Given the description of an element on the screen output the (x, y) to click on. 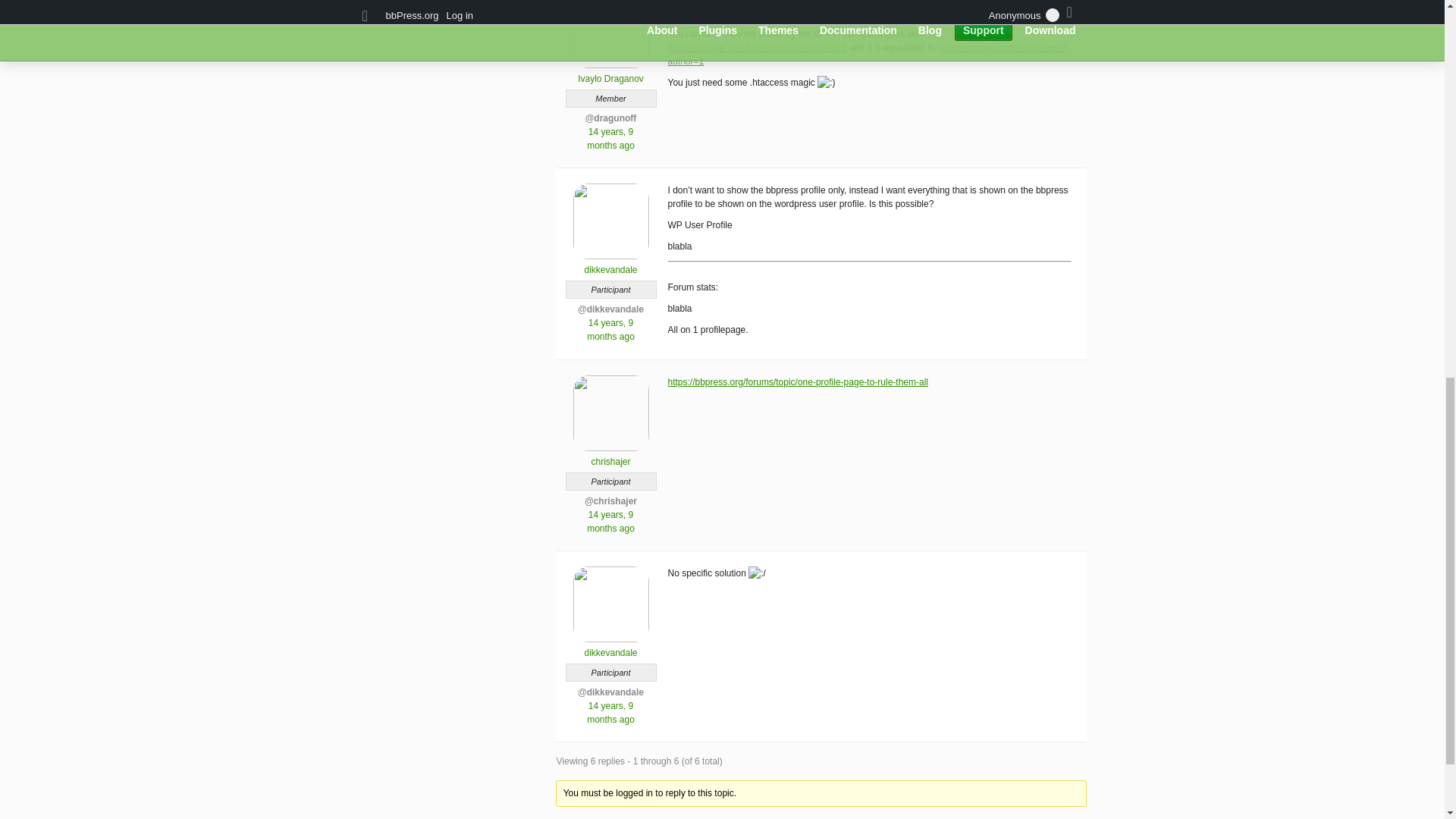
Ivaylo Draganov (609, 72)
14 years, 9 months ago (610, 712)
14 years, 9 months ago (610, 521)
14 years, 9 months ago (610, 138)
dikkevandale (609, 263)
dikkevandale (609, 646)
14 years, 9 months ago (610, 329)
chrishajer (609, 455)
